Given the description of an element on the screen output the (x, y) to click on. 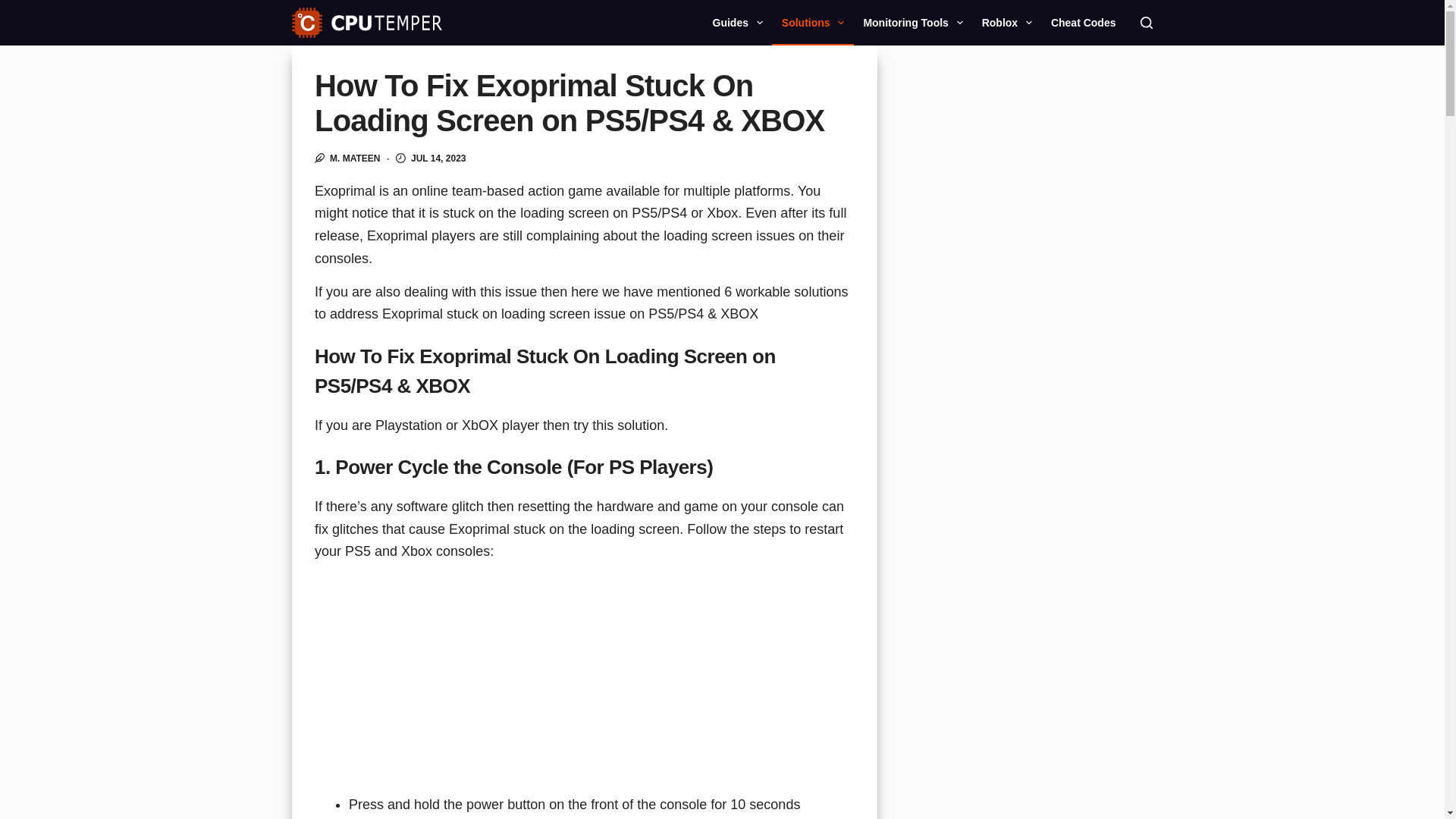
Monitoring Tools (912, 22)
Solutions (812, 22)
Guides (737, 22)
Roblox (1006, 22)
M. MATEEN (355, 158)
Posts by M. Mateen (355, 158)
Cheat Codes (1083, 22)
Skip to content (15, 7)
